Given the description of an element on the screen output the (x, y) to click on. 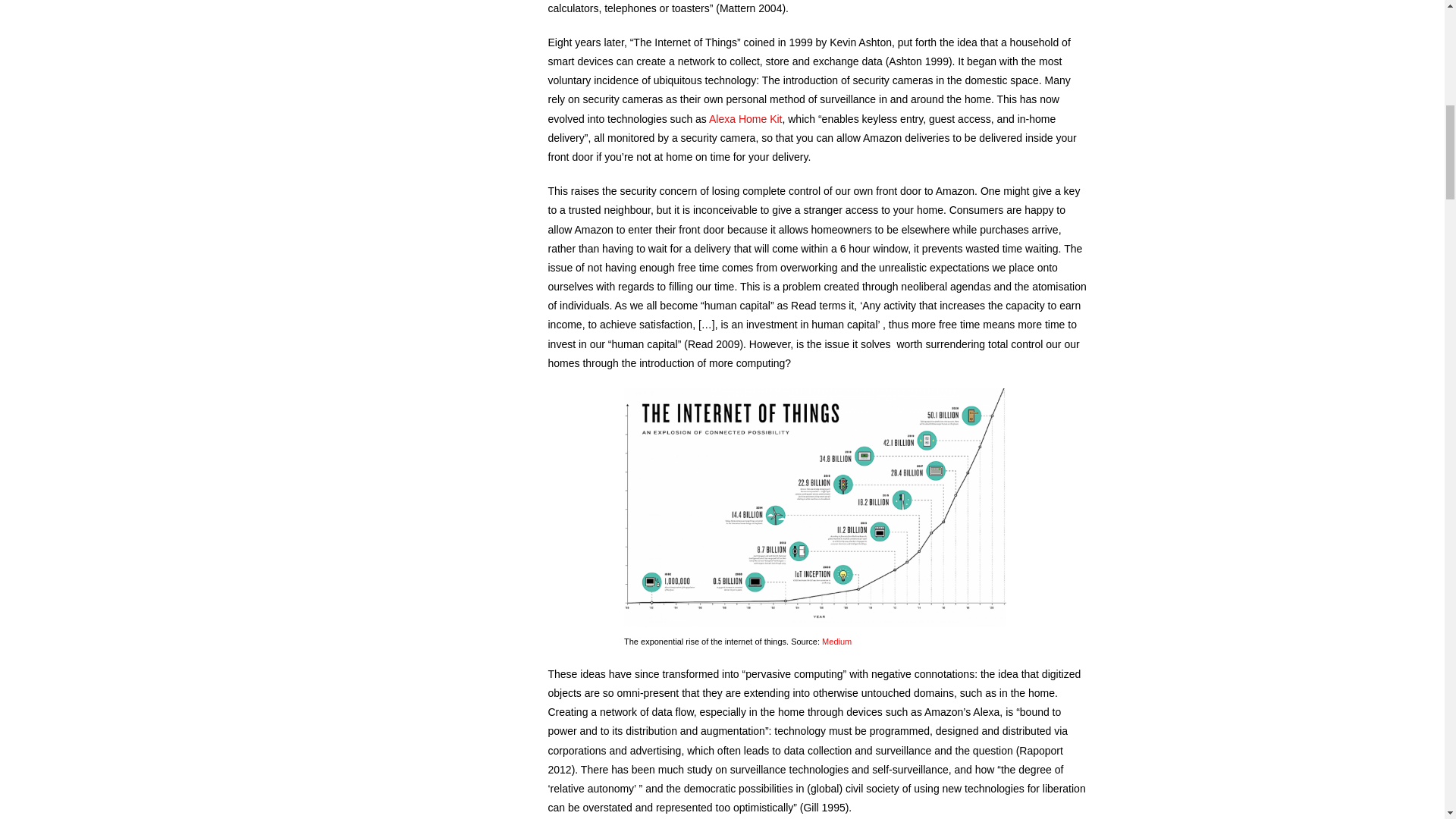
Alexa Home Kit (745, 119)
Medium (836, 641)
